Given the description of an element on the screen output the (x, y) to click on. 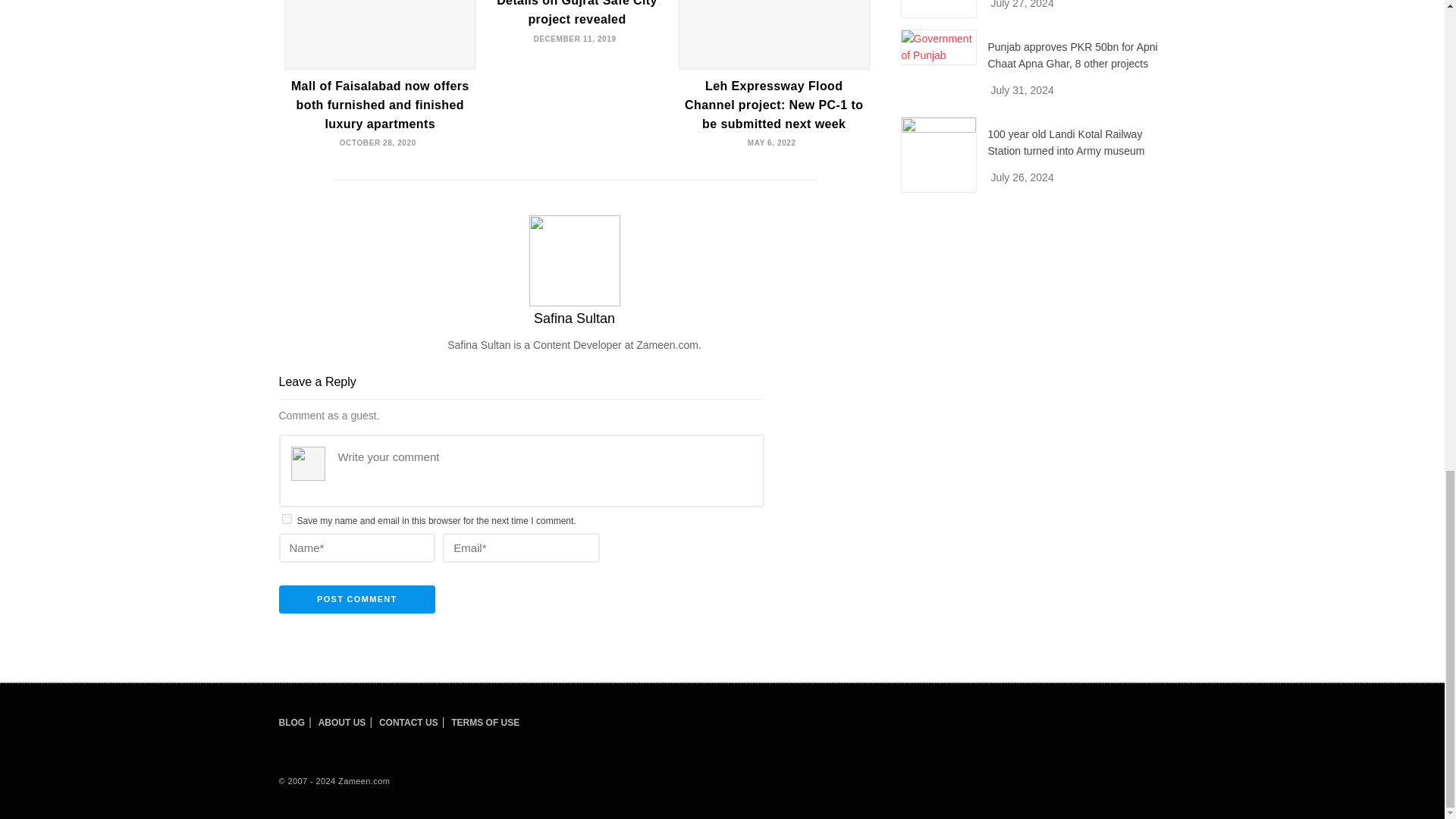
yes (287, 519)
Details on Gujrat Safe City project revealed (577, 12)
Post Comment (357, 599)
Post Comment (357, 599)
